Given the description of an element on the screen output the (x, y) to click on. 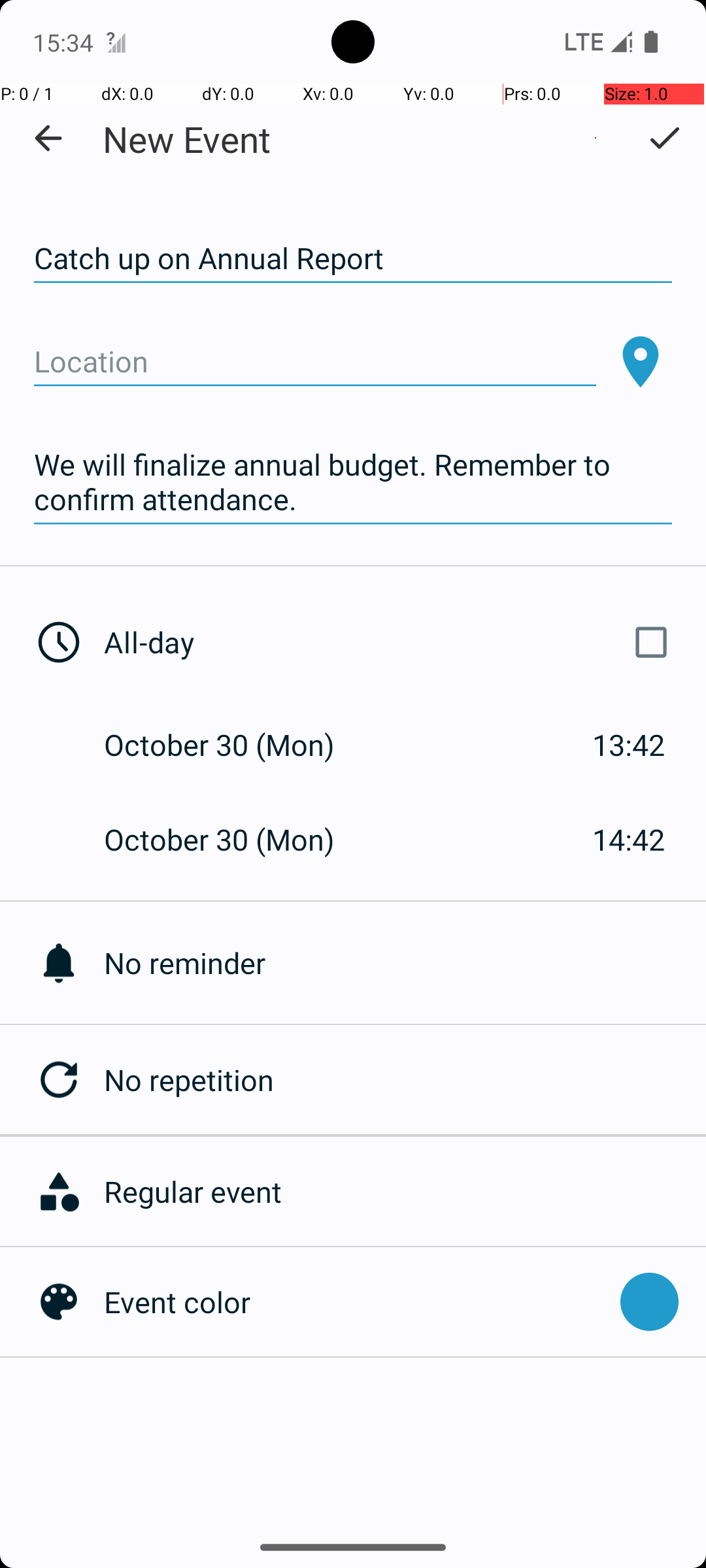
We will finalize annual budget. Remember to confirm attendance. Element type: android.widget.EditText (352, 482)
October 30 (Mon) Element type: android.widget.TextView (232, 744)
13:42 Element type: android.widget.TextView (628, 744)
14:42 Element type: android.widget.TextView (628, 838)
